Given the description of an element on the screen output the (x, y) to click on. 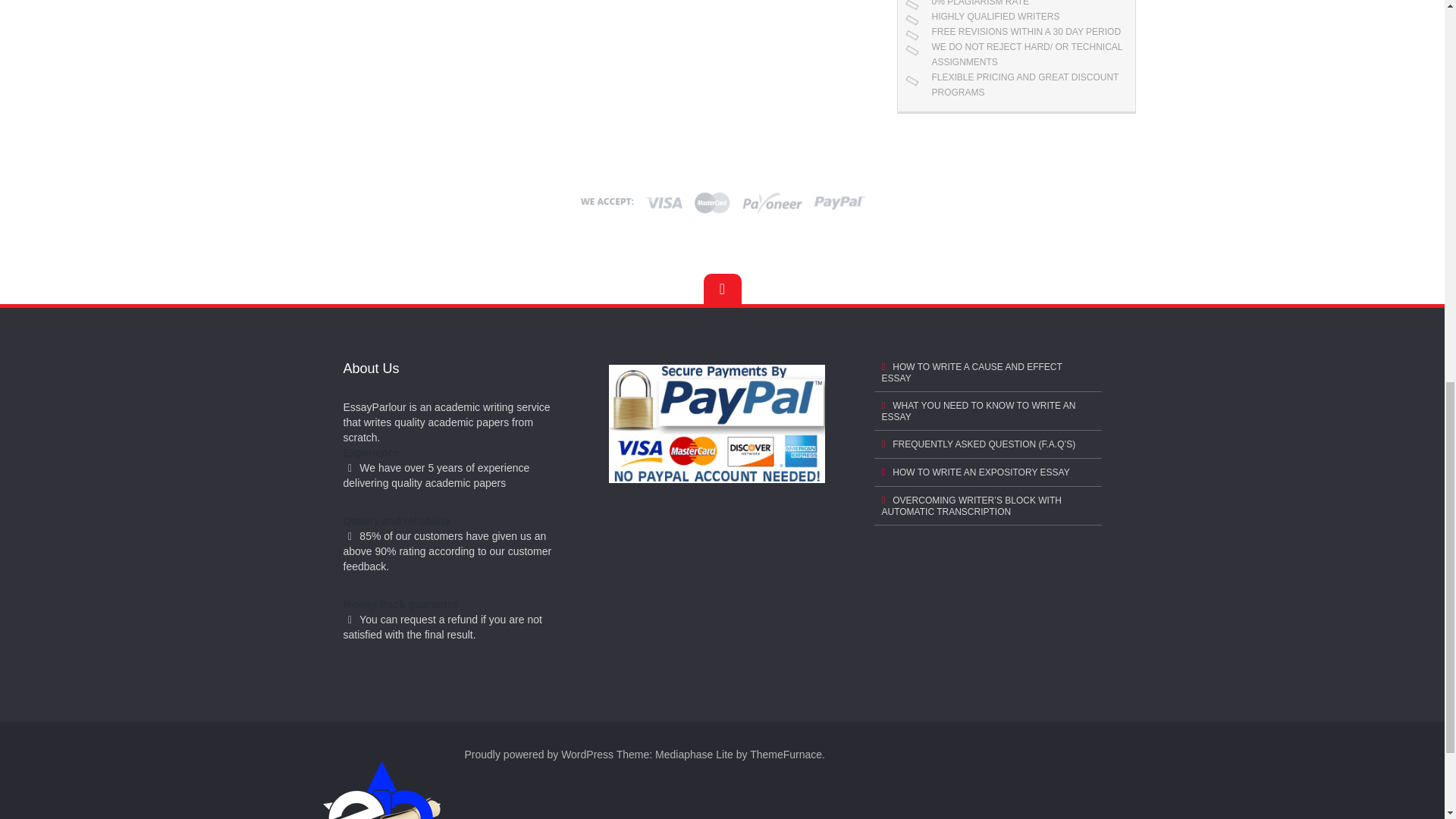
ThemeFurnace (785, 754)
WHAT YOU NEED TO KNOW TO WRITE AN ESSAY (986, 411)
HOW TO WRITE AN EXPOSITORY ESSAY (986, 472)
Proudly powered by WordPress (538, 754)
HOW TO WRITE A CAUSE AND EFFECT ESSAY (986, 372)
